Given the description of an element on the screen output the (x, y) to click on. 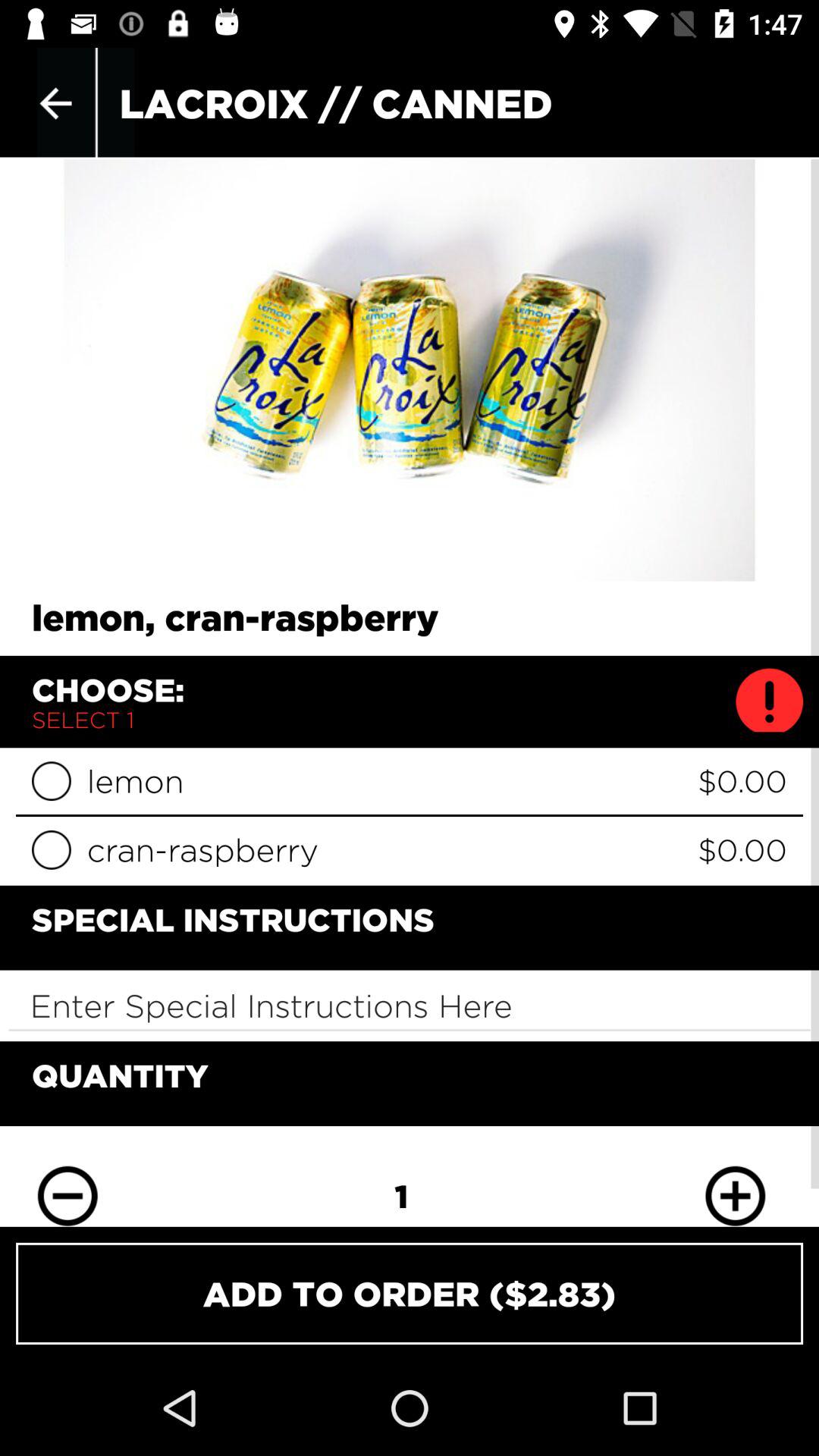
decrease the amount of quantity (67, 1185)
